Given the description of an element on the screen output the (x, y) to click on. 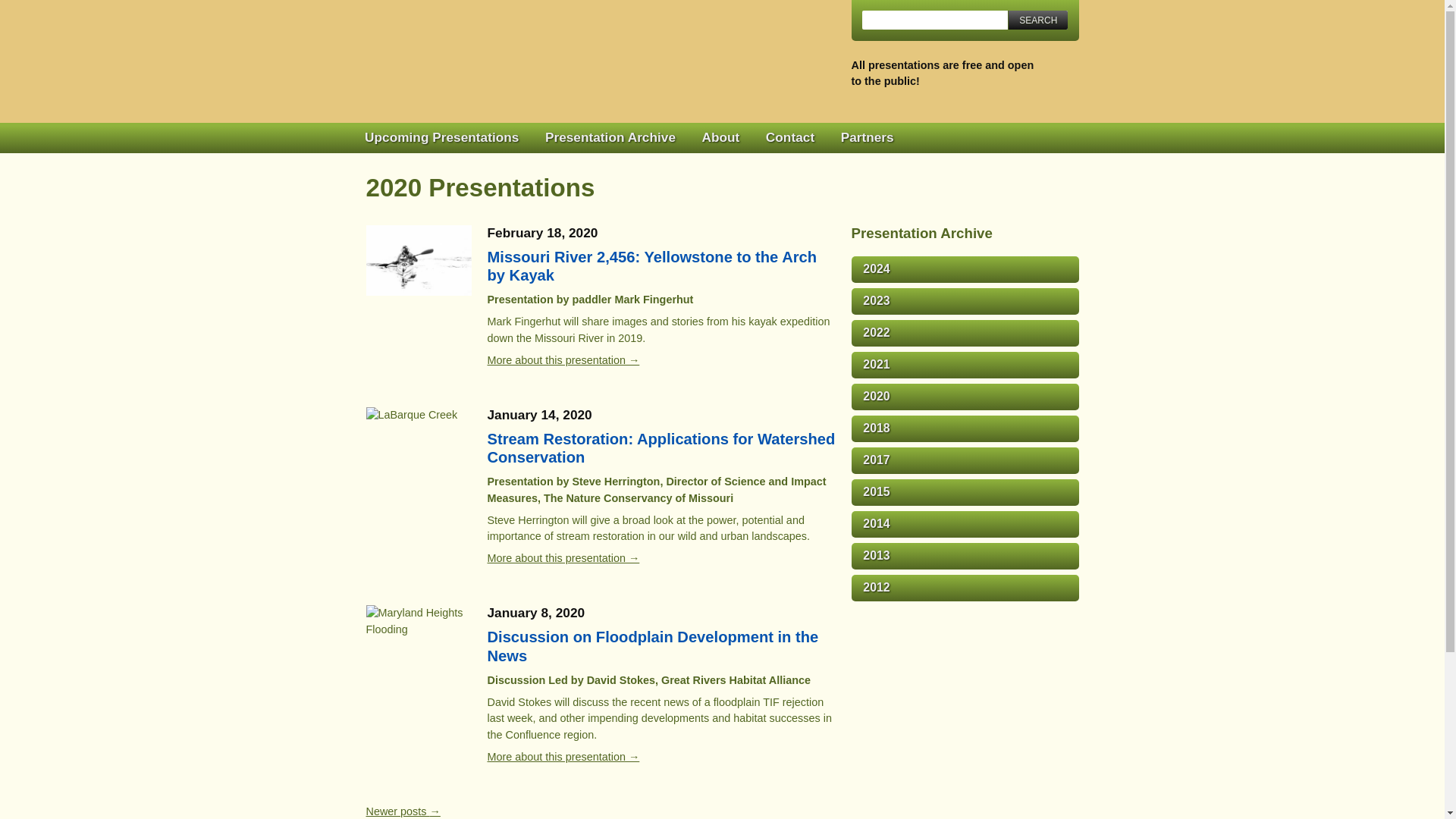
2015 (964, 492)
2024 (964, 269)
2021 (964, 365)
Big Muddy Speaker Series (560, 57)
2022 (964, 333)
2013 (964, 555)
Search (1037, 19)
2012 (964, 587)
Presentation Archive (609, 138)
Search (1037, 19)
Contact (789, 138)
Partners (866, 138)
About (720, 138)
2014 (964, 524)
Upcoming Presentations (441, 138)
